Given the description of an element on the screen output the (x, y) to click on. 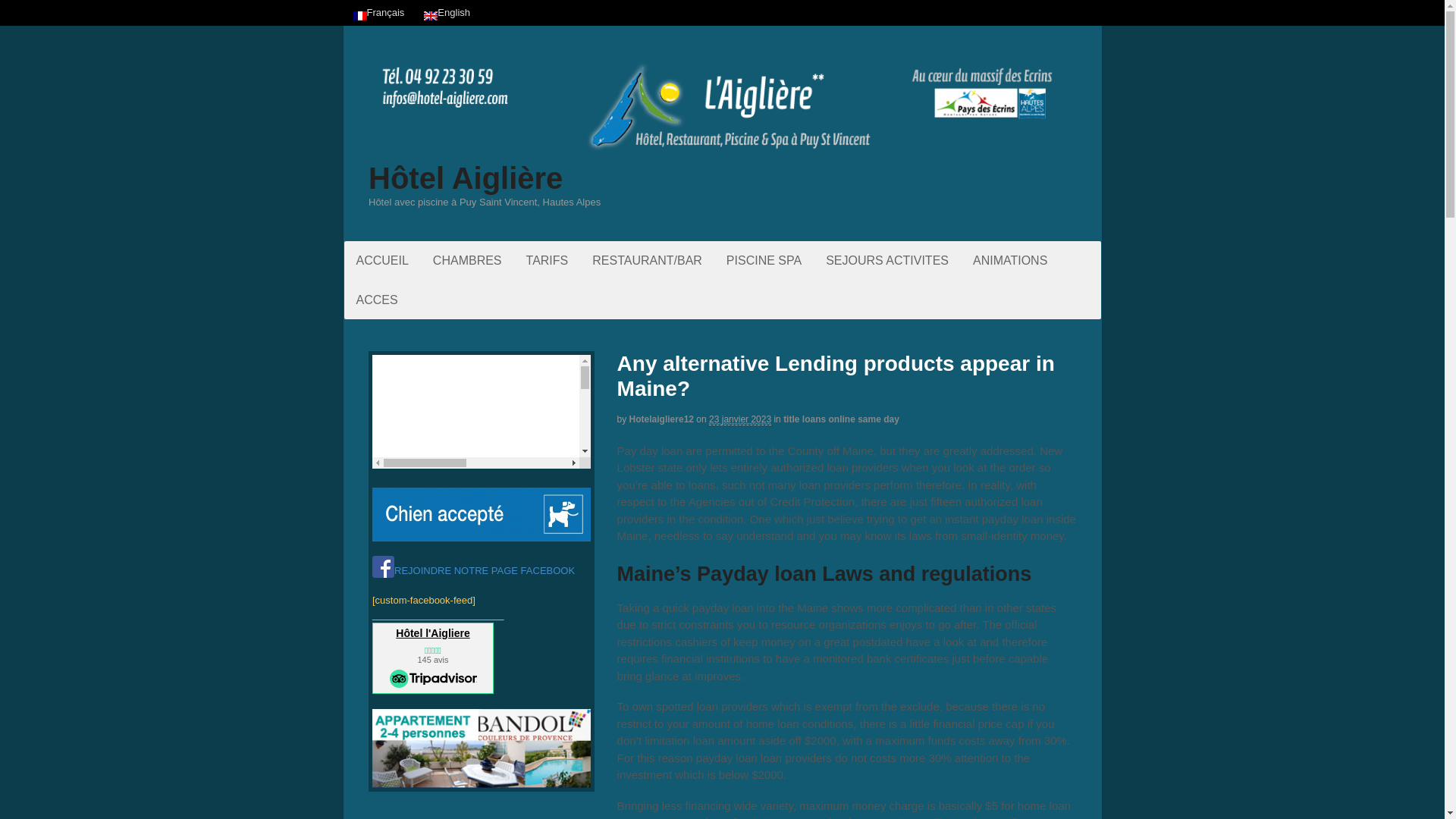
Hotelaigliere12 (661, 419)
CHAMBRES (466, 260)
English (430, 15)
English (446, 12)
ACCUEIL (381, 260)
English (446, 12)
title loans online same day (841, 419)
REJOINDRE NOTRE PAGE FACEBOOK (473, 570)
View all items in title loans online same day (841, 419)
TARIFS (546, 260)
SEJOURS ACTIVITES (886, 260)
ANIMATIONS (1009, 260)
PISCINE SPA (763, 260)
ACCES (376, 299)
Articles par hotelaigliere12 (661, 419)
